Given the description of an element on the screen output the (x, y) to click on. 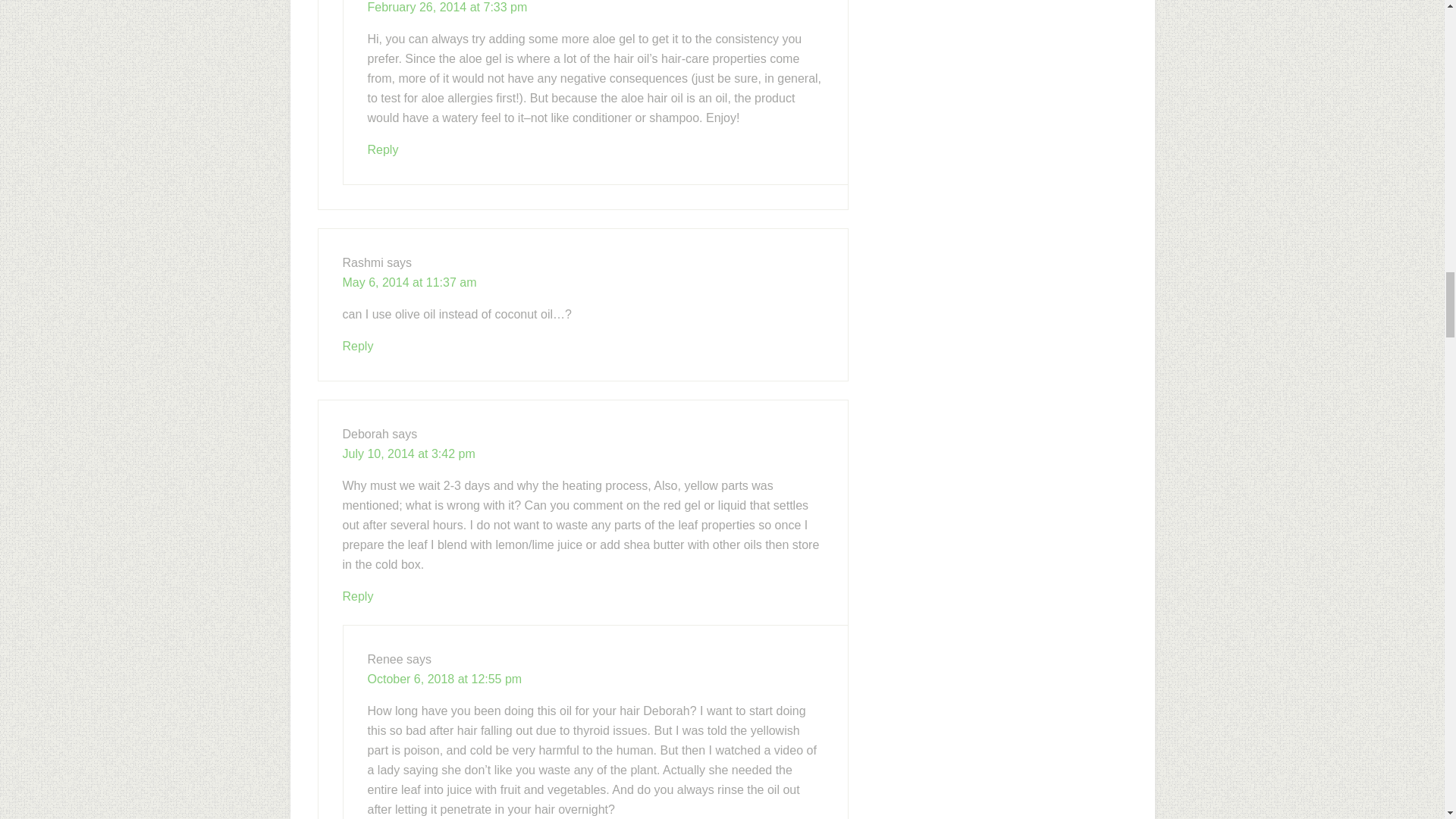
February 26, 2014 at 7:33 pm (446, 6)
October 6, 2018 at 12:55 pm (443, 678)
Reply (381, 149)
May 6, 2014 at 11:37 am (409, 282)
Reply (358, 345)
Reply (358, 595)
July 10, 2014 at 3:42 pm (409, 453)
